Given the description of an element on the screen output the (x, y) to click on. 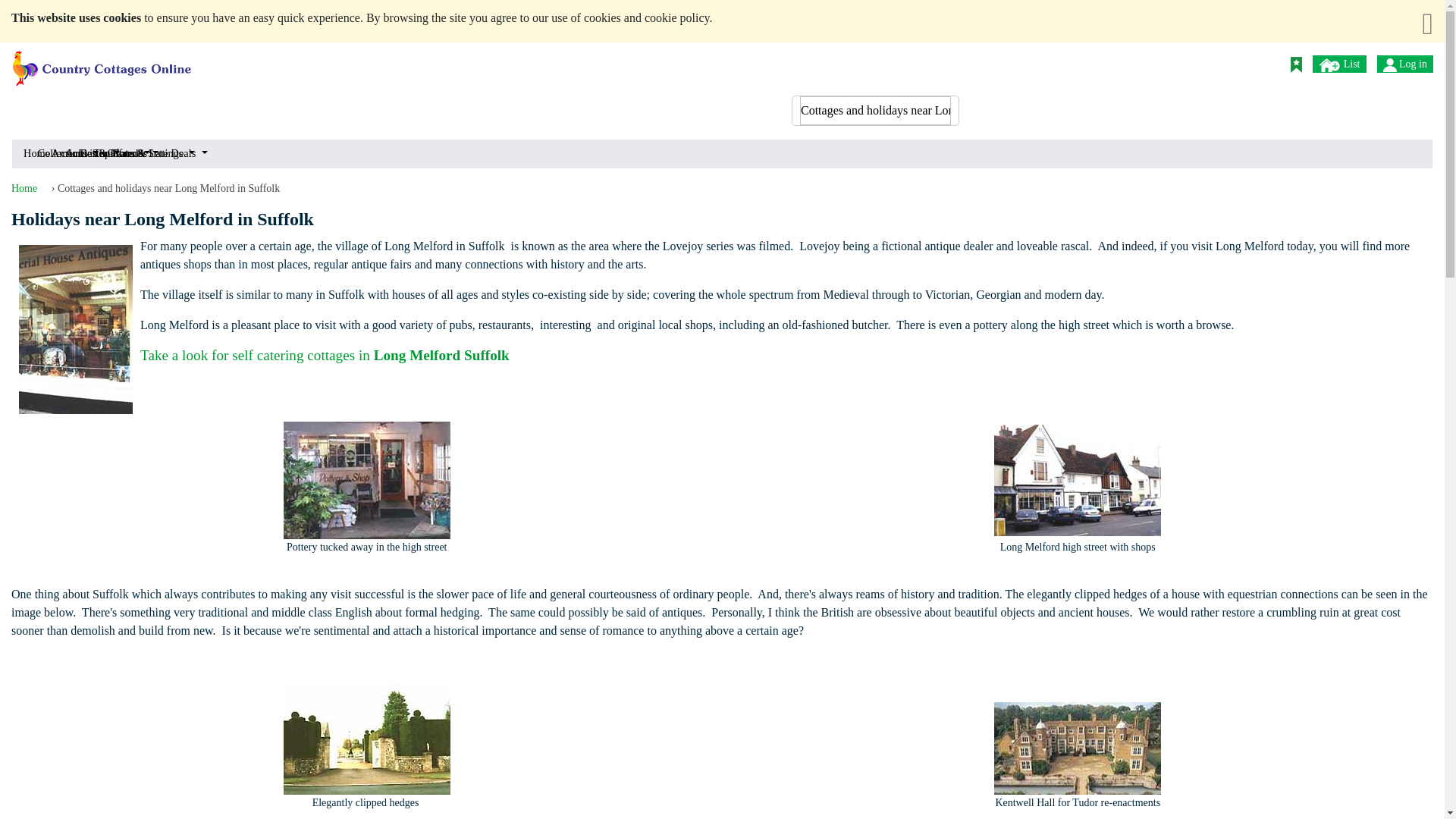
Bookmark Country Cottages Online (1295, 64)
List (1339, 63)
Cottages and holidays near Long Melford in Suffolk (874, 110)
Home (28, 153)
Log in (1404, 63)
Log in (1389, 65)
list your property (1329, 64)
search (937, 62)
country cottages online (102, 62)
Collections (41, 153)
search (937, 62)
